Given the description of an element on the screen output the (x, y) to click on. 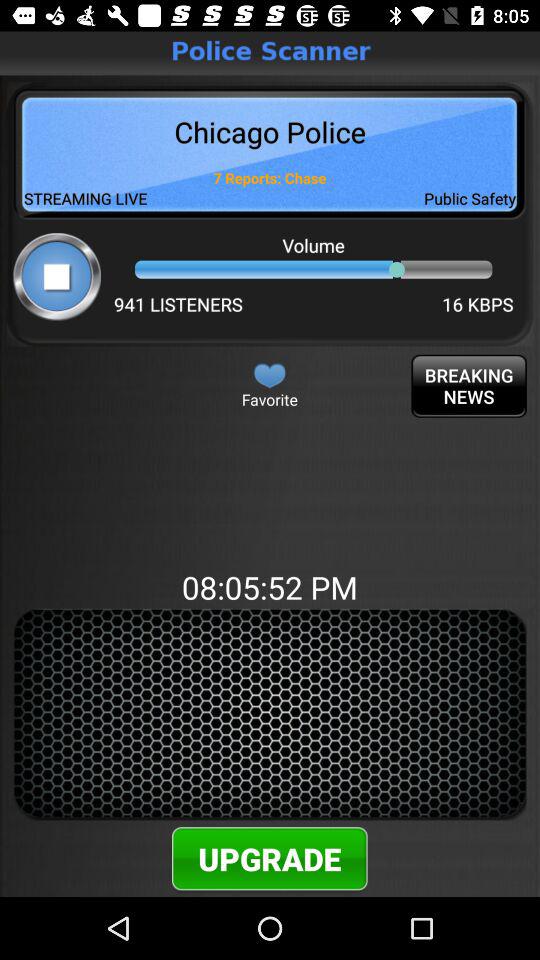
add station to favorites (269, 375)
